Given the description of an element on the screen output the (x, y) to click on. 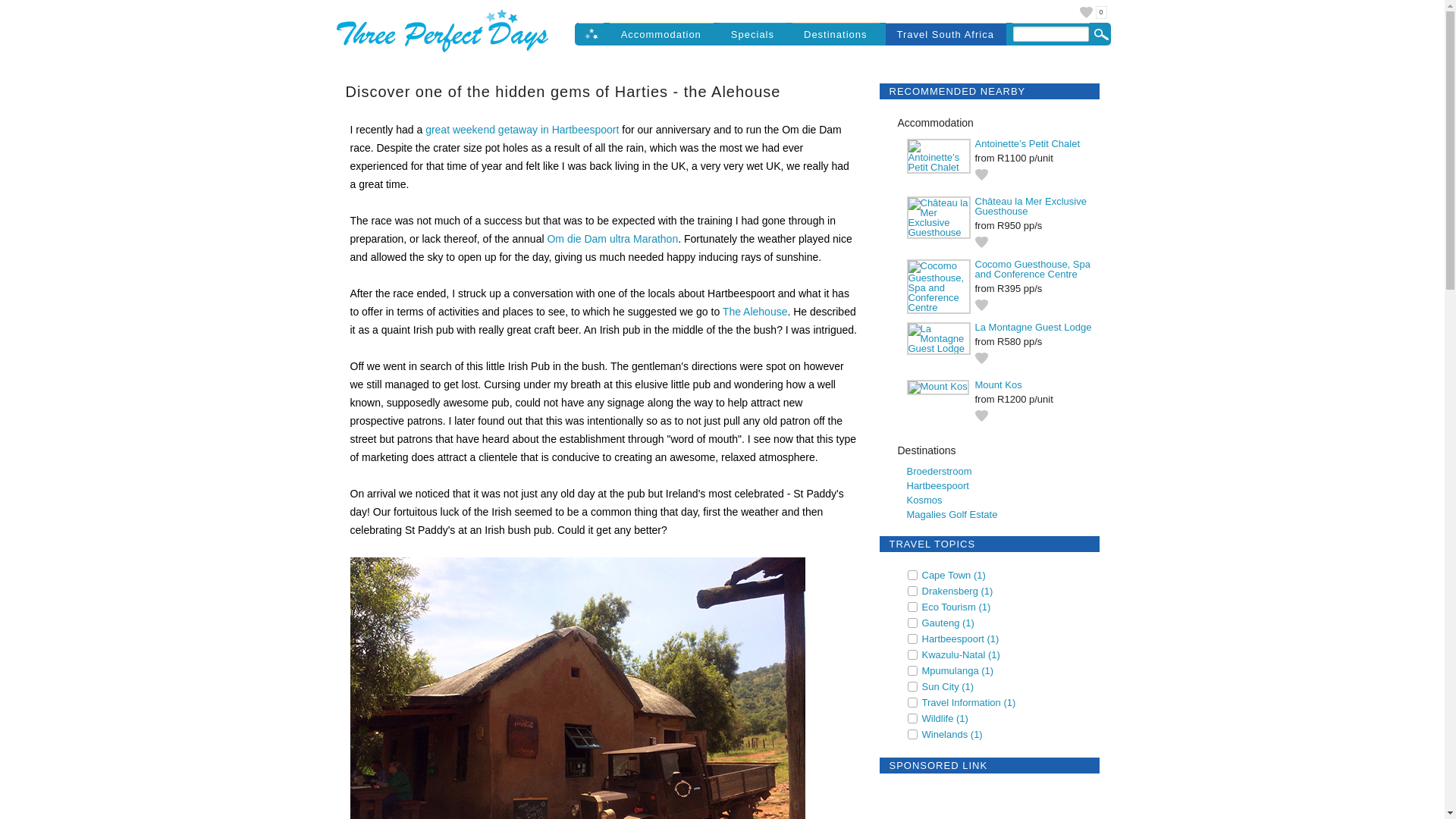
Mount Kos (998, 384)
Travel South Africa (945, 30)
Kosmos (924, 500)
La Montagne Guest Lodge (1033, 326)
great weekend getaway in Hartbeespoort (521, 129)
Destinations (835, 30)
Magalies Golf Estate (952, 514)
Broederstroom (939, 471)
Om die Dam ultra Marathon (612, 238)
Three Perfect Days - Home (592, 34)
Hartbeespoort (938, 485)
Specials (752, 30)
Three Perfect Days - Home (443, 52)
Accommodation (660, 30)
The Alehouse (754, 311)
